Given the description of an element on the screen output the (x, y) to click on. 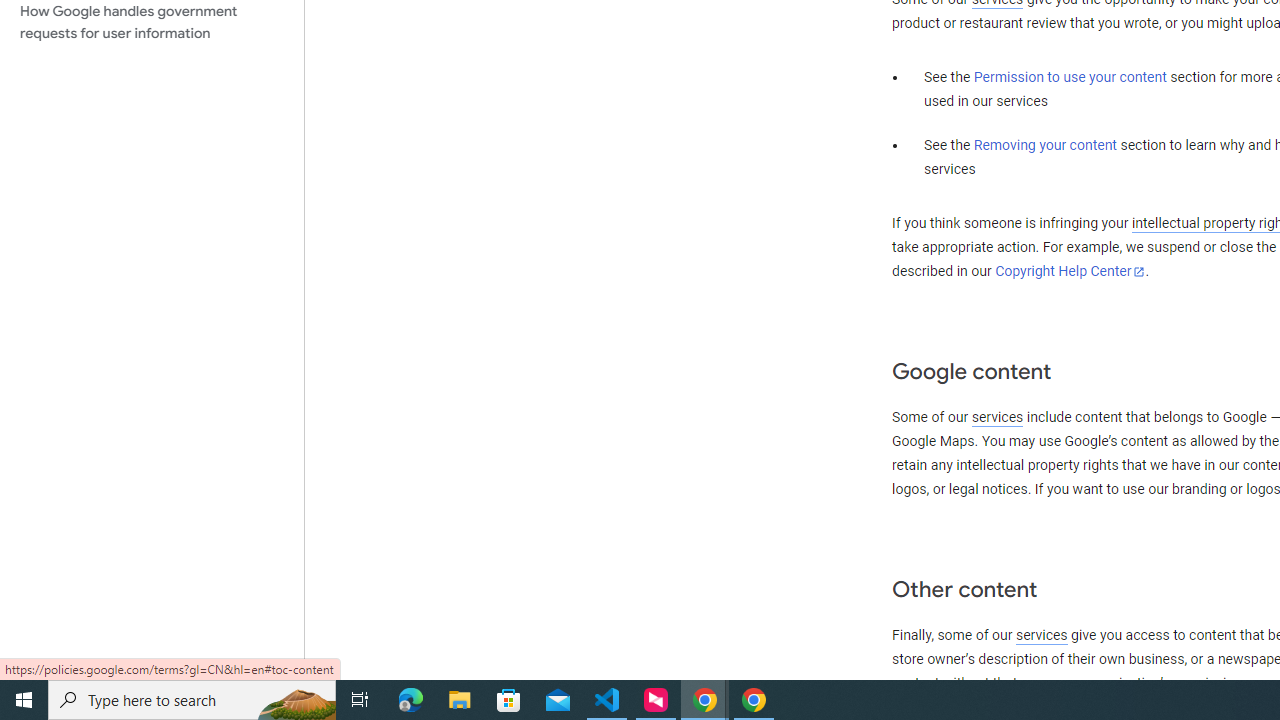
services (1041, 635)
Removing your content (1044, 145)
Permission to use your content (1069, 78)
Copyright Help Center (1069, 271)
